Given the description of an element on the screen output the (x, y) to click on. 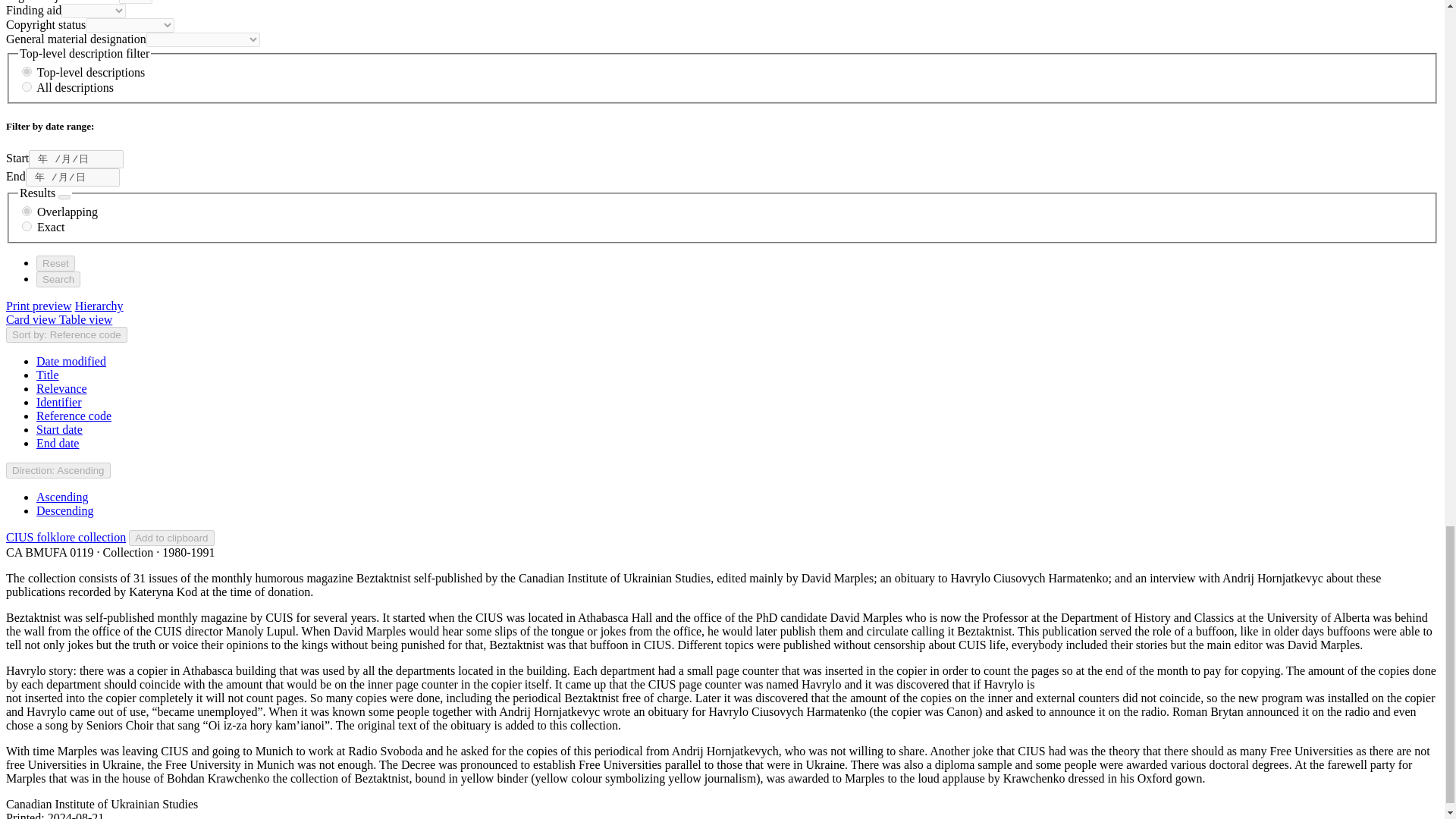
Search (58, 279)
Reset (55, 263)
exact (26, 225)
inclusive (26, 211)
0 (26, 86)
1 (26, 71)
